Given the description of an element on the screen output the (x, y) to click on. 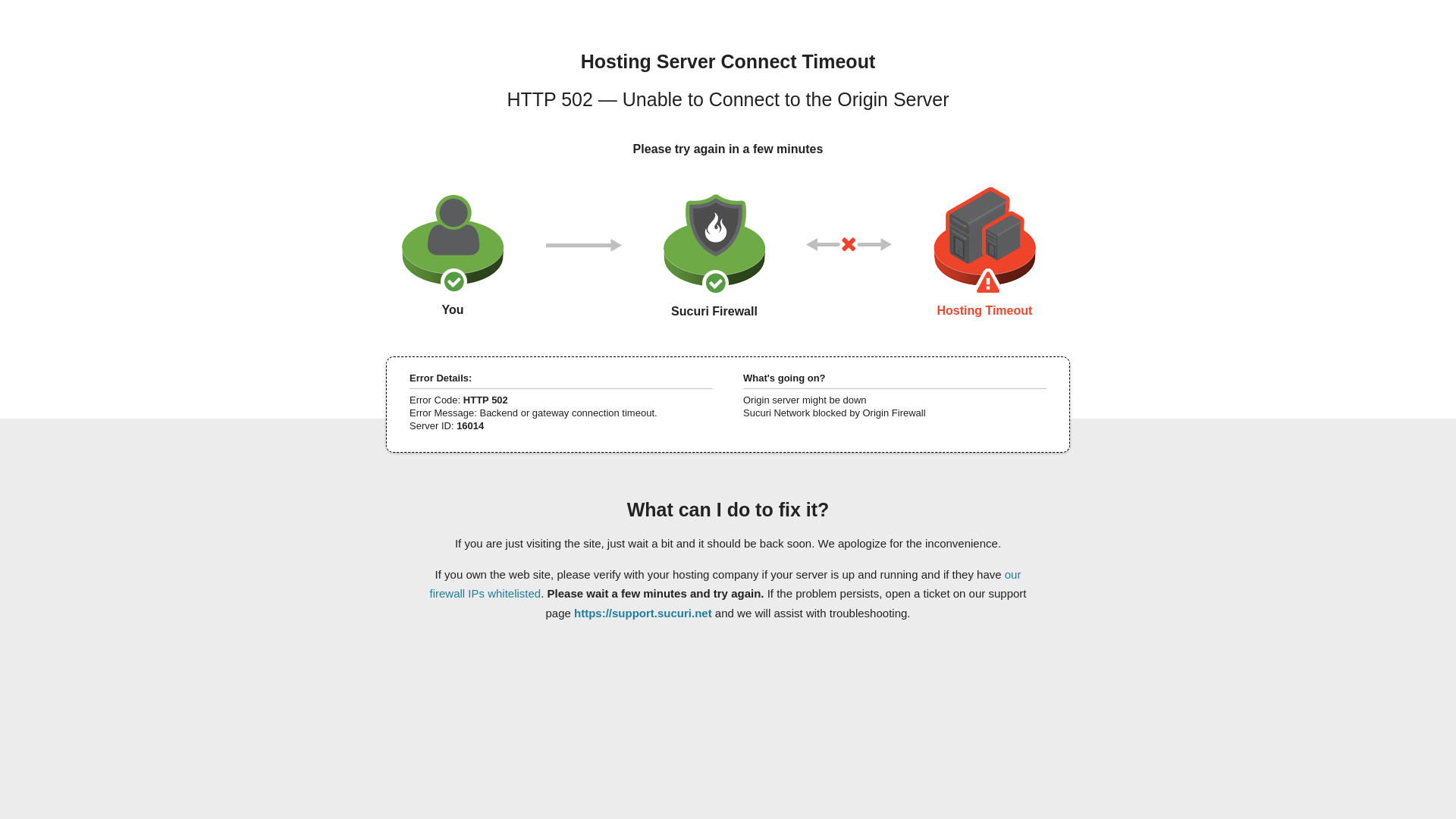
our firewall IPs whitelisted (724, 583)
